Given the description of an element on the screen output the (x, y) to click on. 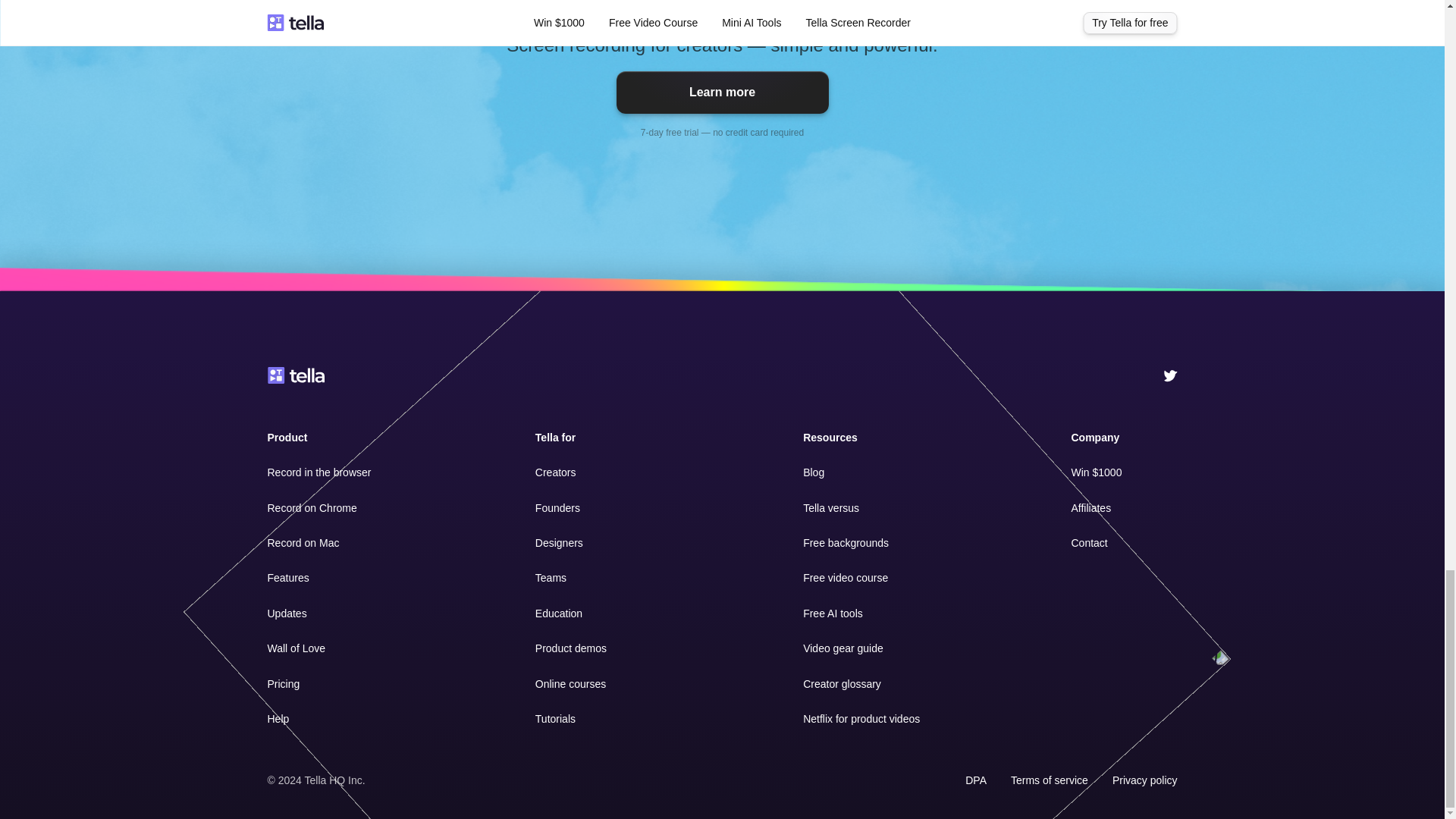
Record on Chrome (311, 508)
Creators (555, 472)
Resources (830, 437)
Teams (550, 577)
Updates (285, 613)
Help (277, 718)
Founders (557, 508)
Product (286, 437)
Learn more (721, 92)
Online courses (570, 684)
Pricing (282, 684)
Education (558, 613)
Free backgrounds (845, 542)
Record on Mac (302, 542)
Tella versu (828, 508)
